Given the description of an element on the screen output the (x, y) to click on. 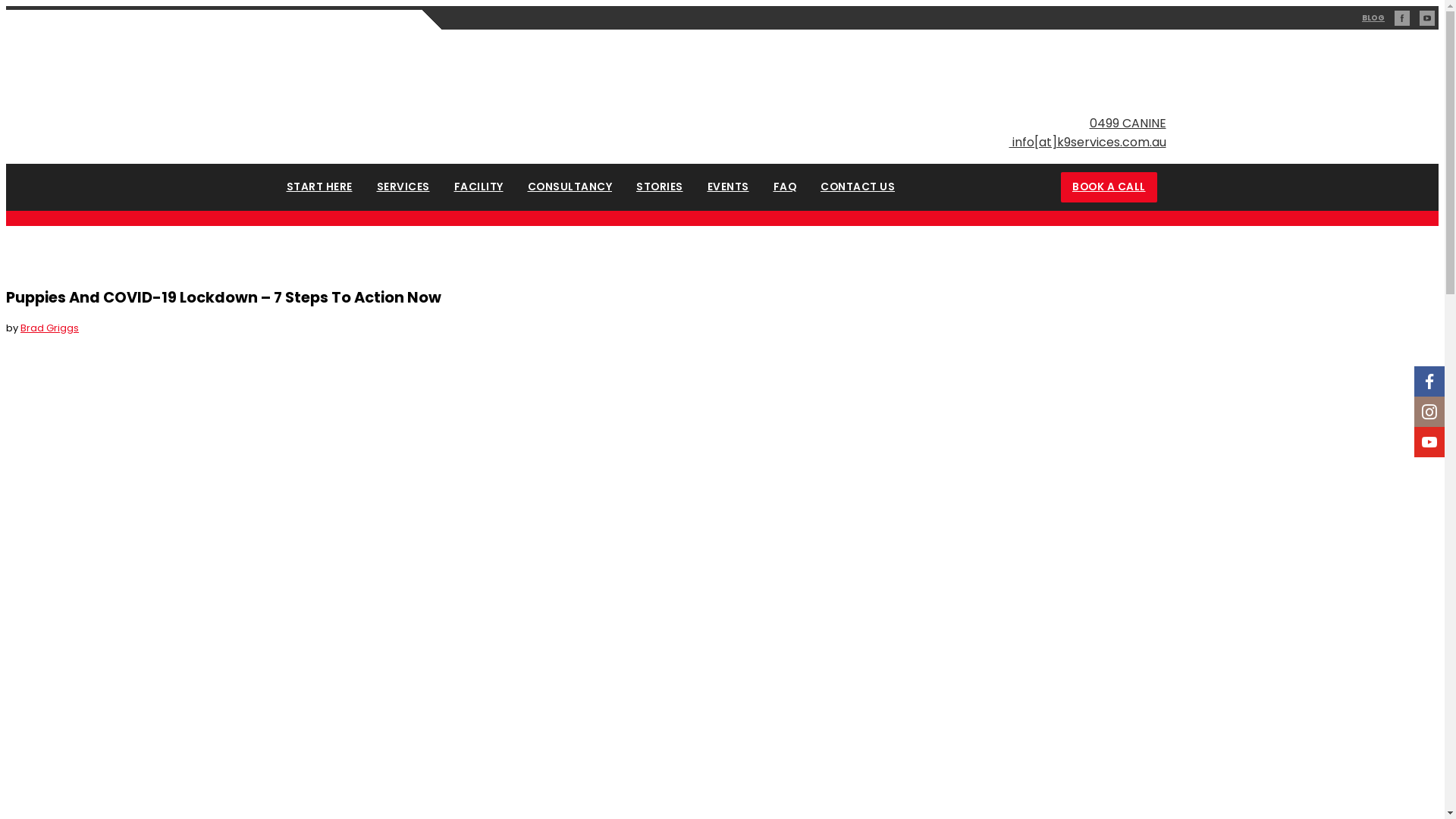
BOOK A CALL Element type: text (1108, 186)
FACILITY Element type: text (477, 186)
FACEBOOK Element type: text (1401, 17)
STORIES Element type: text (659, 186)
0499 CANINE Element type: text (1126, 122)
YOUTUBE Element type: text (1426, 17)
BLOG Element type: text (1372, 17)
Brad Griggs Element type: text (49, 327)
CONSULTANCY Element type: text (570, 186)
CONTACT US Element type: text (857, 186)
info[at]k9services.com.au Element type: text (722, 141)
SERVICES Element type: text (402, 186)
START HERE Element type: text (319, 186)
EVENTS Element type: text (727, 186)
FAQ Element type: text (784, 186)
